Given the description of an element on the screen output the (x, y) to click on. 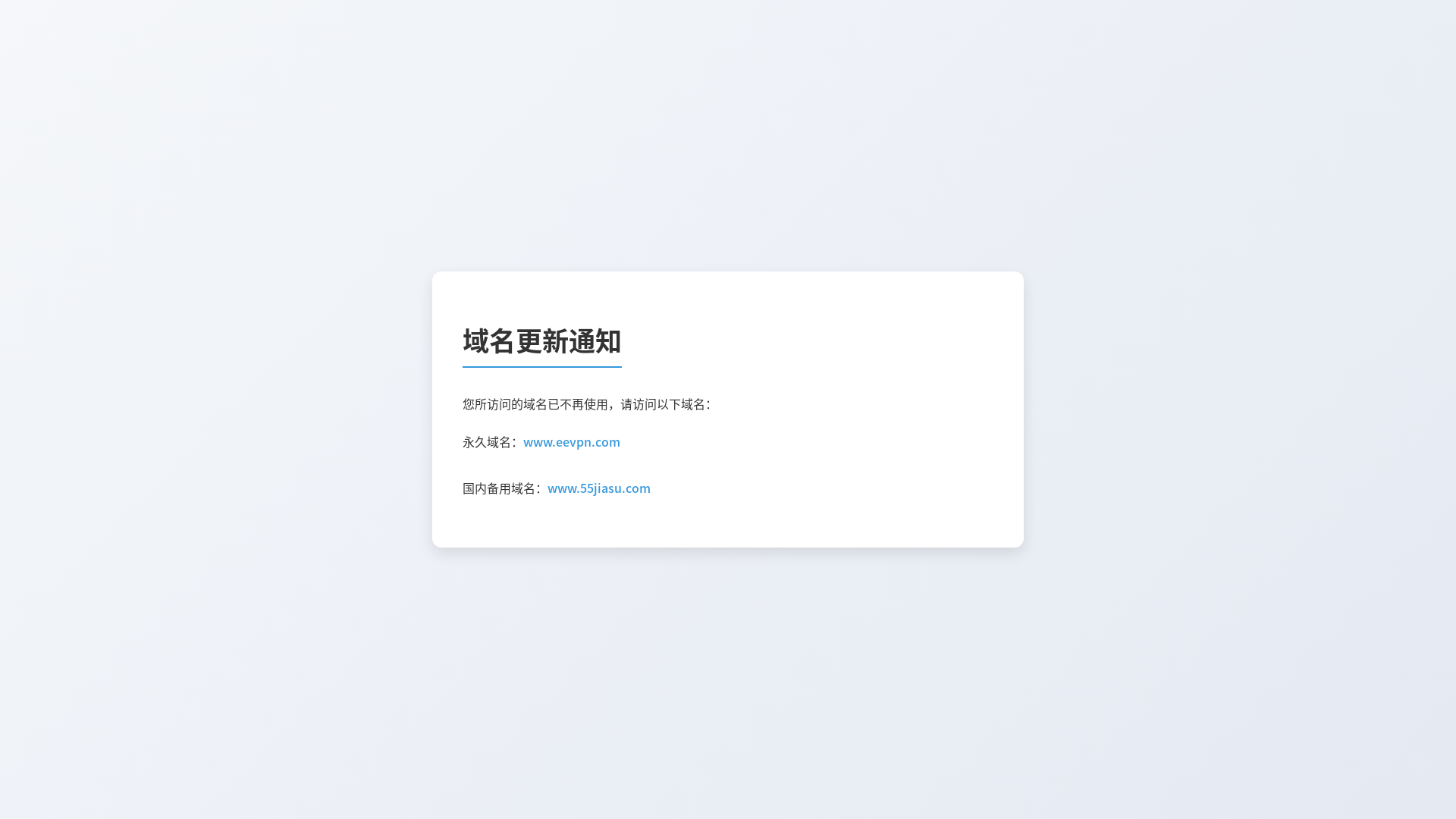
www.eevpn.com Element type: text (571, 441)
www.55jiasu.com Element type: text (598, 488)
